Given the description of an element on the screen output the (x, y) to click on. 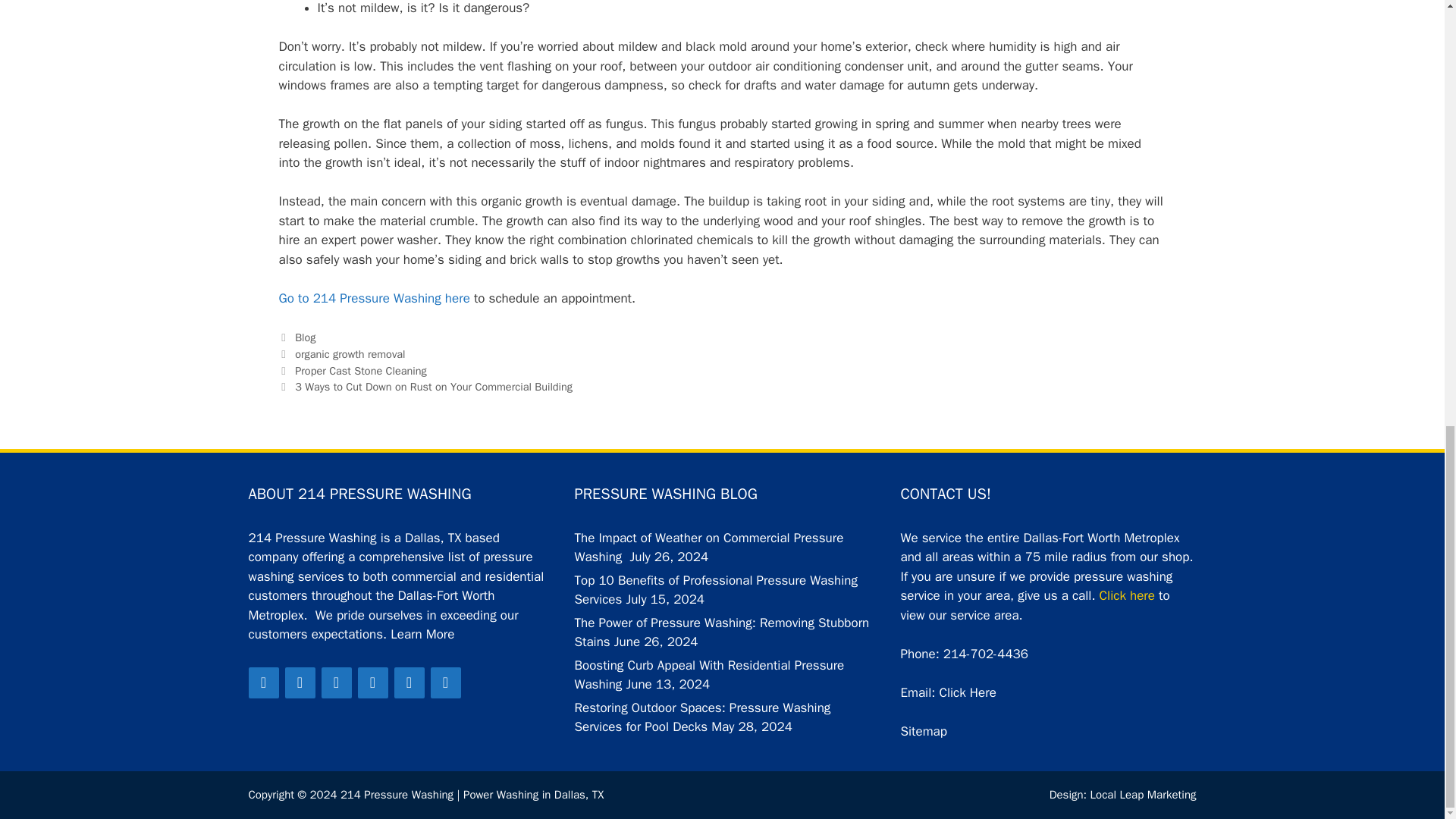
Blog (305, 336)
Go to 214 Pressure Washing here (374, 298)
Learn More (422, 634)
Next (426, 386)
3 Ways to Cut Down on Rust on Your Commercial Building (433, 386)
organic growth removal (349, 354)
Facebook (263, 682)
Previous (352, 370)
Twitter (300, 682)
Proper Cast Stone Cleaning (360, 370)
